Given the description of an element on the screen output the (x, y) to click on. 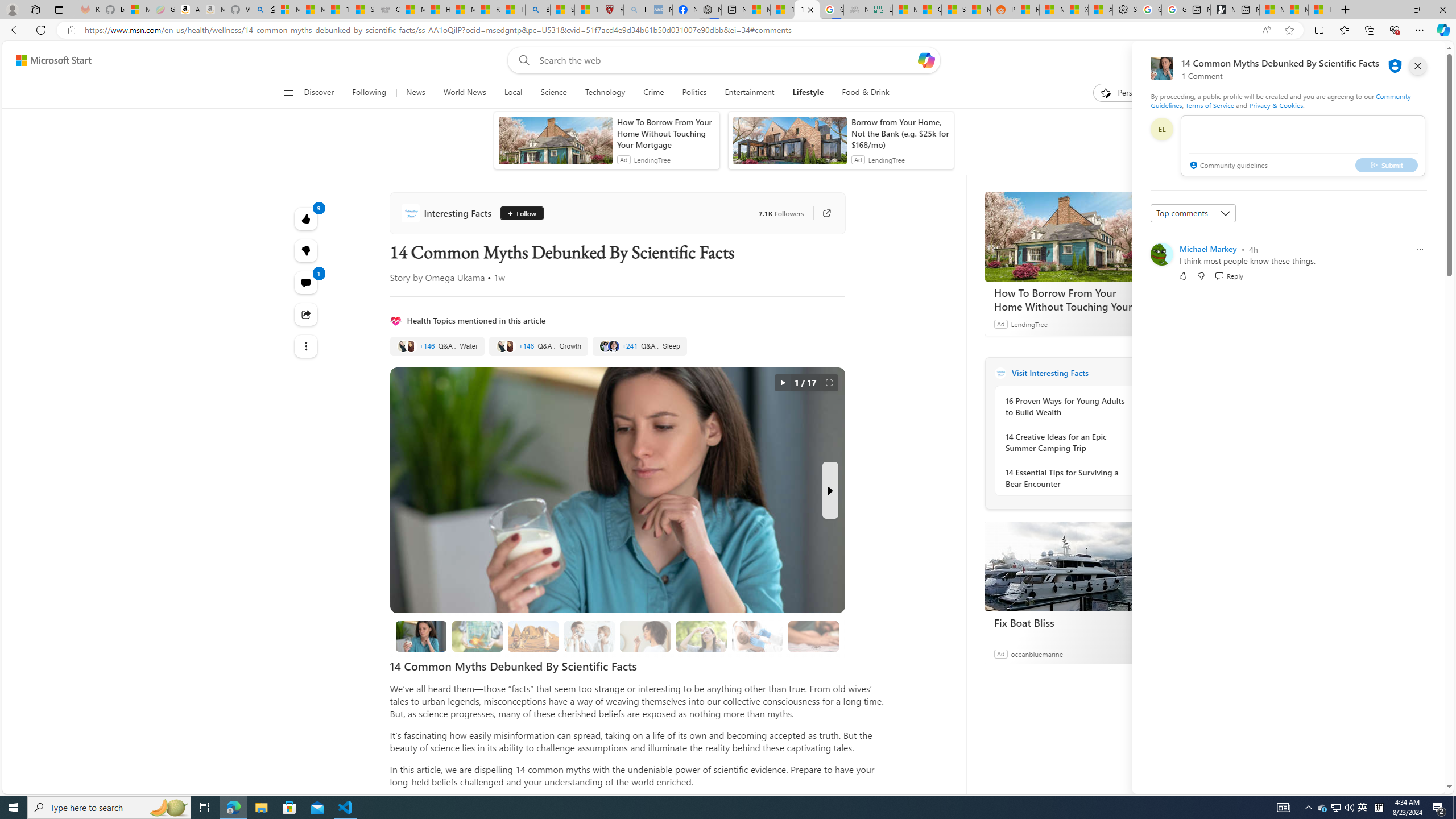
Class: button-glyph (287, 92)
Terms of Service (1209, 104)
Next Slide (829, 489)
Community Guidelines (1280, 100)
1. Dry Mouth (645, 635)
Submit (1386, 164)
14 Common Myths Debunked By Scientific Facts (421, 636)
Interesting Facts (1000, 372)
These 3 Stocks Pay You More Than 5% to Own Them (1320, 9)
